Given the description of an element on the screen output the (x, y) to click on. 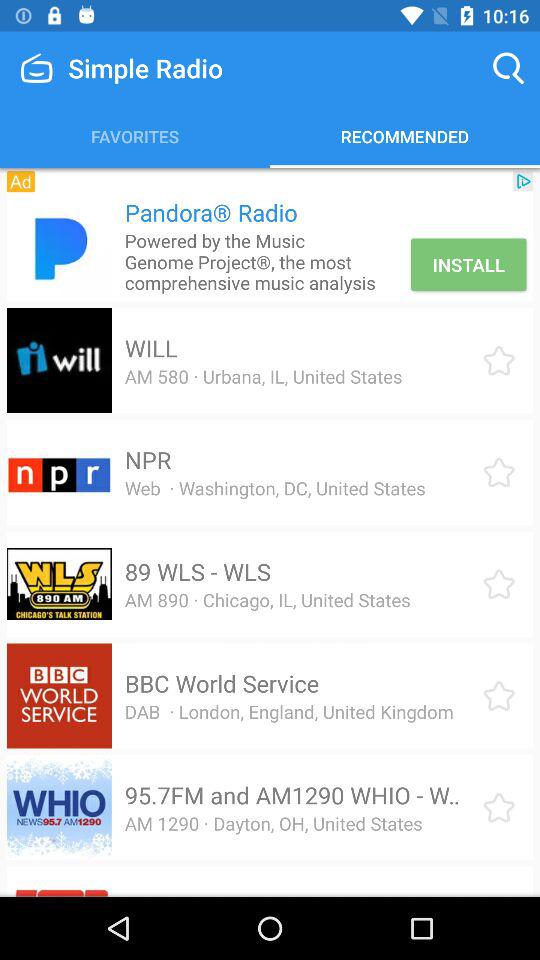
turn off npr icon (147, 459)
